Given the description of an element on the screen output the (x, y) to click on. 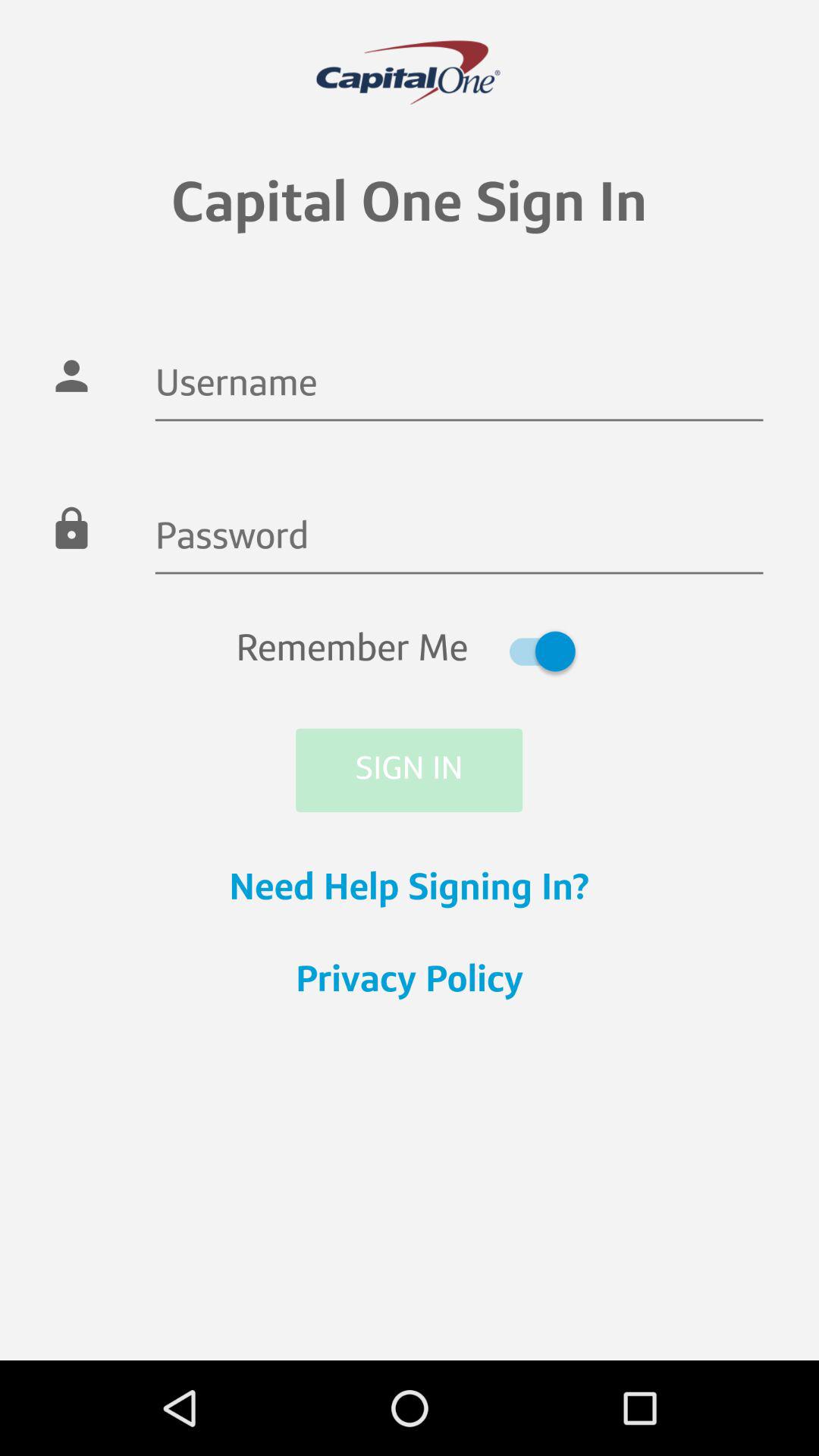
flip to the privacy policy item (409, 982)
